Given the description of an element on the screen output the (x, y) to click on. 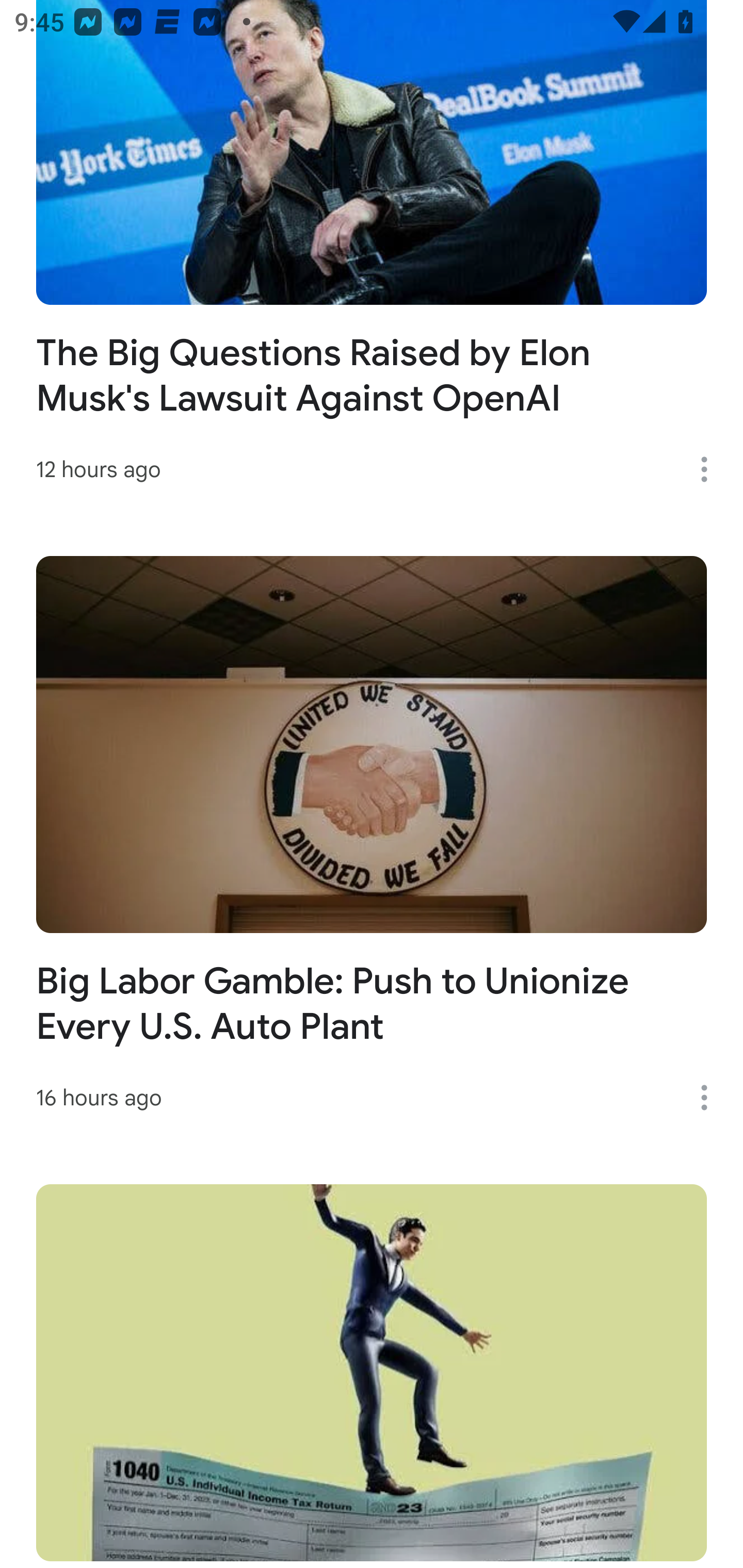
More options (711, 469)
More options (711, 1097)
What You Need to Know for the 2024 Tax Season (371, 1375)
